Given the description of an element on the screen output the (x, y) to click on. 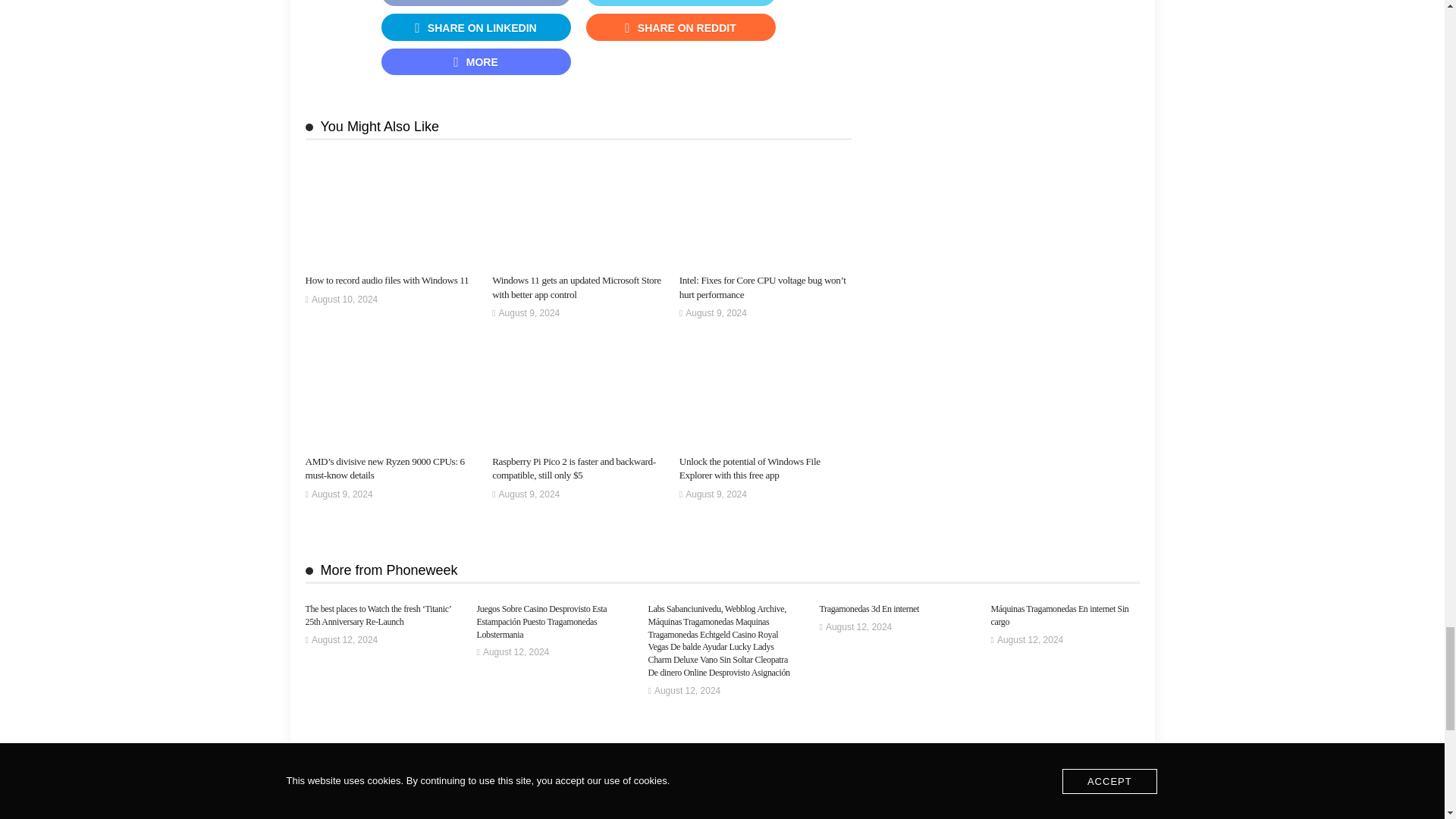
SHARE ON FACEBOOK (475, 2)
How to record audio files with Windows 11 (386, 279)
